Given the description of an element on the screen output the (x, y) to click on. 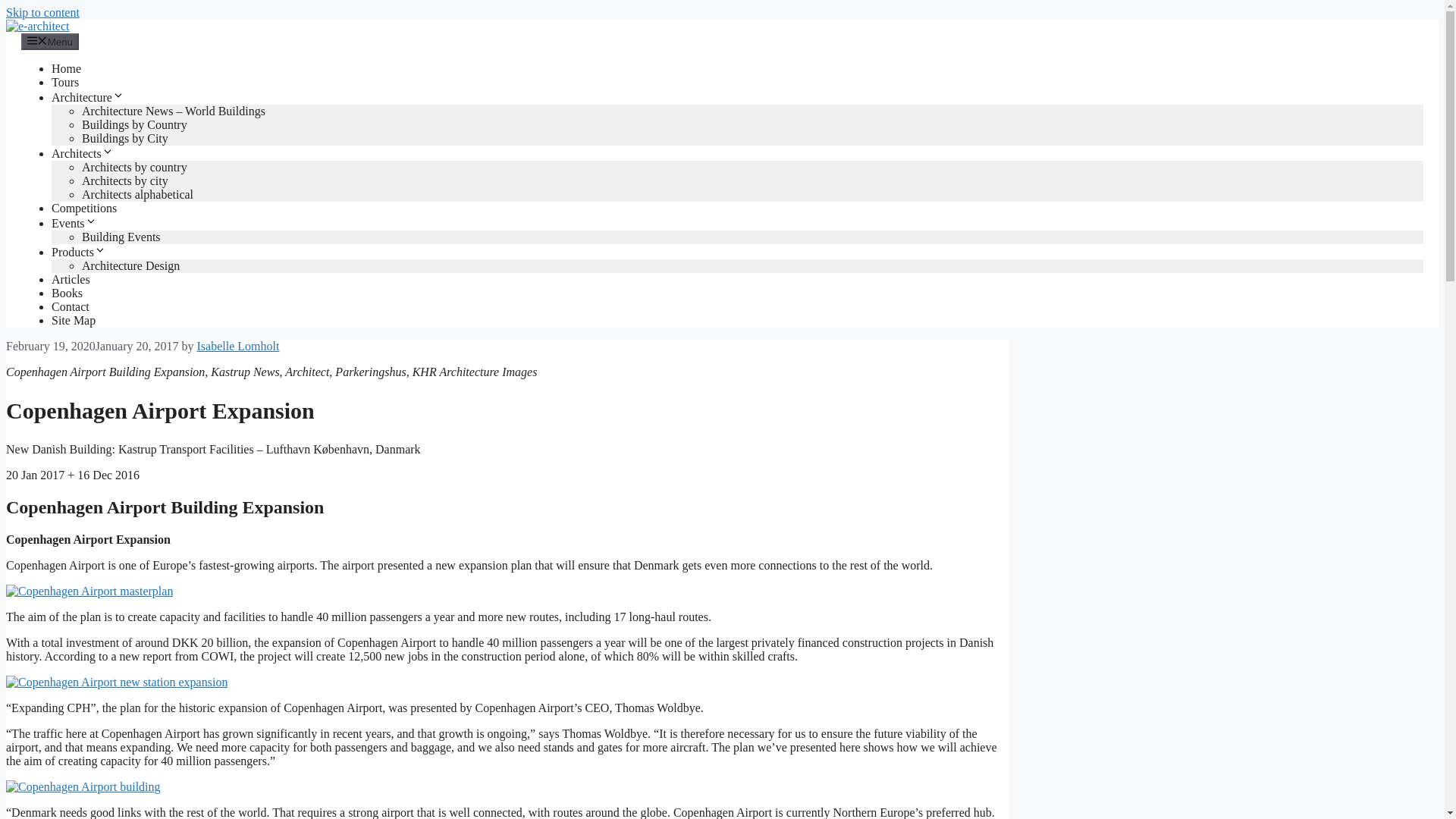
Events (73, 223)
Home (65, 68)
Architecture (86, 97)
Menu (49, 41)
Books (66, 292)
Architects alphabetical (137, 194)
Skip to content (42, 11)
Products (78, 251)
Site Map (73, 319)
Contact (69, 306)
